Given the description of an element on the screen output the (x, y) to click on. 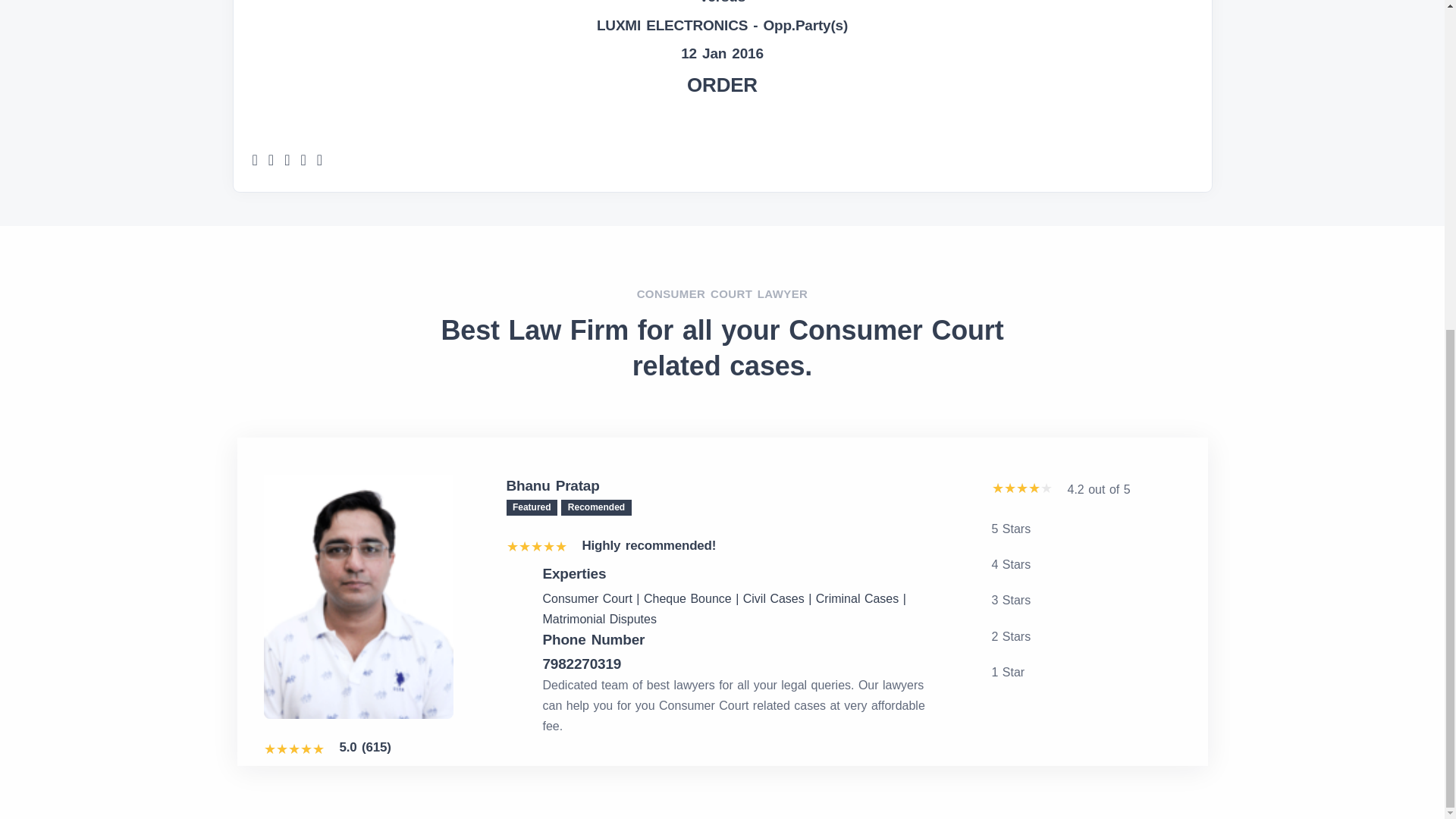
7982270319 (741, 663)
